Given the description of an element on the screen output the (x, y) to click on. 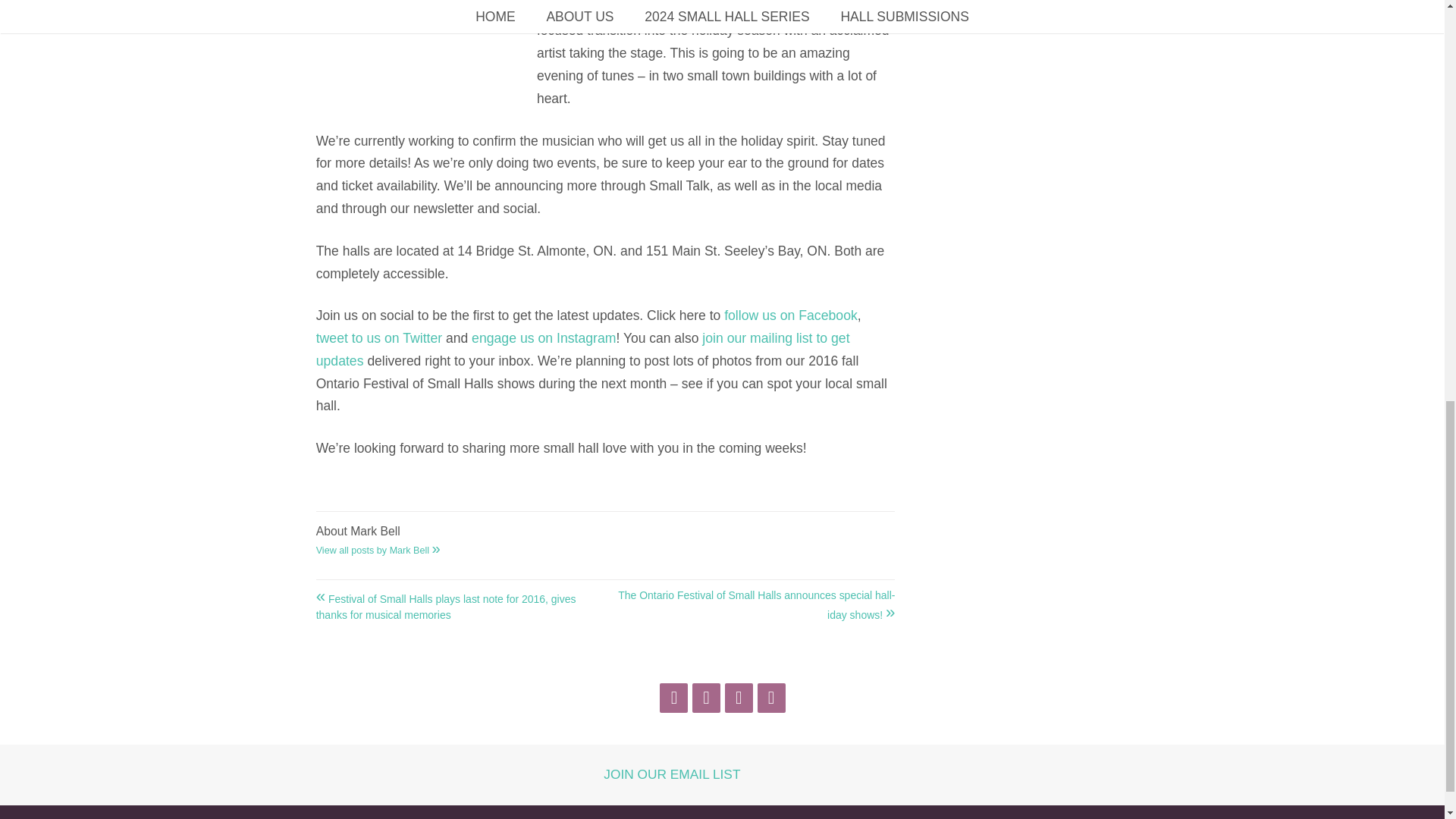
tweet to us on Twitter (378, 337)
follow us on Facebook (790, 314)
join our mailing list to get updates (582, 349)
engage us on Instagram (543, 337)
JOIN OUR EMAIL LIST (671, 774)
